Given the description of an element on the screen output the (x, y) to click on. 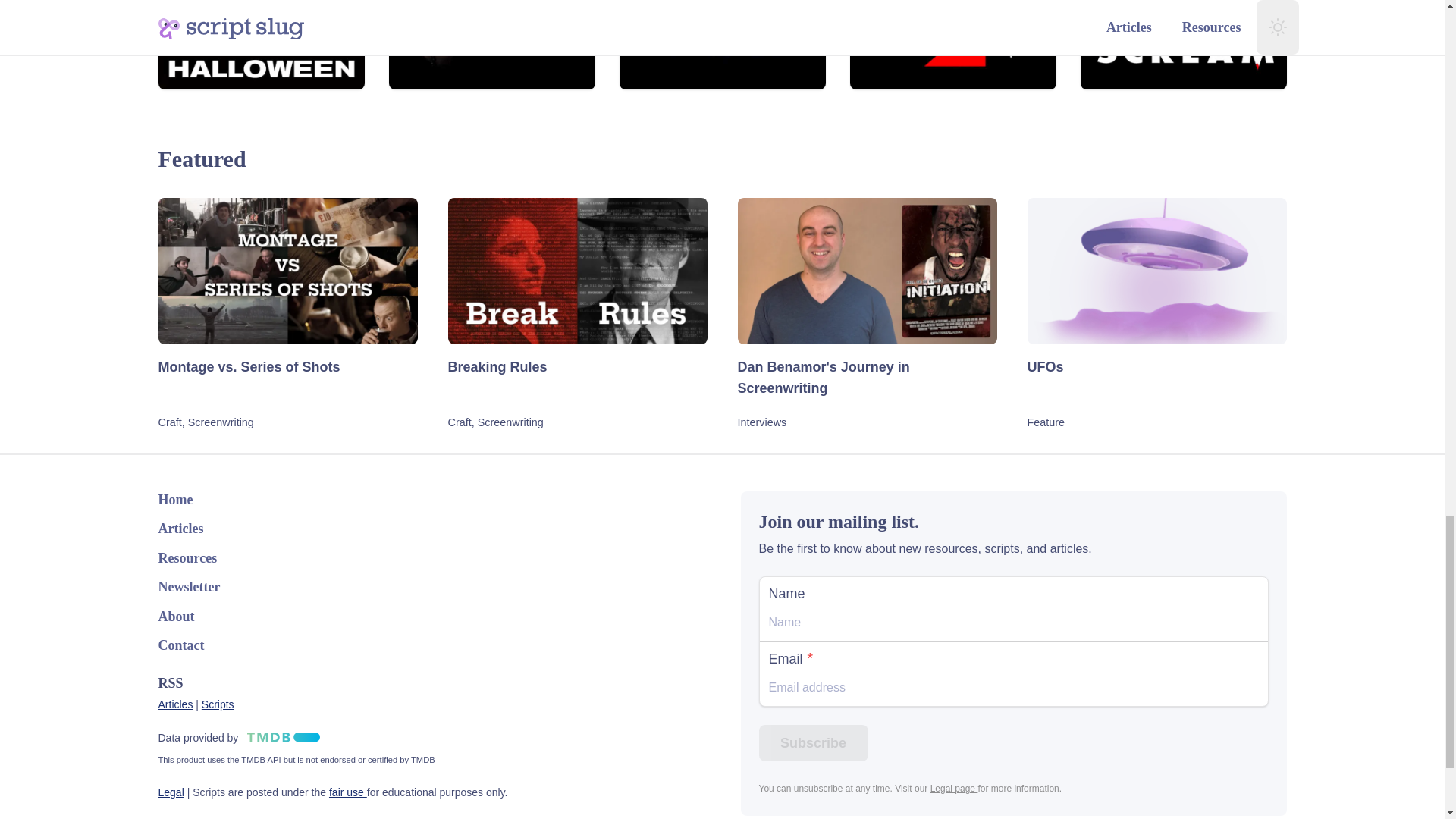
Montage vs. Series of Shots (286, 375)
Breaking Rules (576, 375)
